Given the description of an element on the screen output the (x, y) to click on. 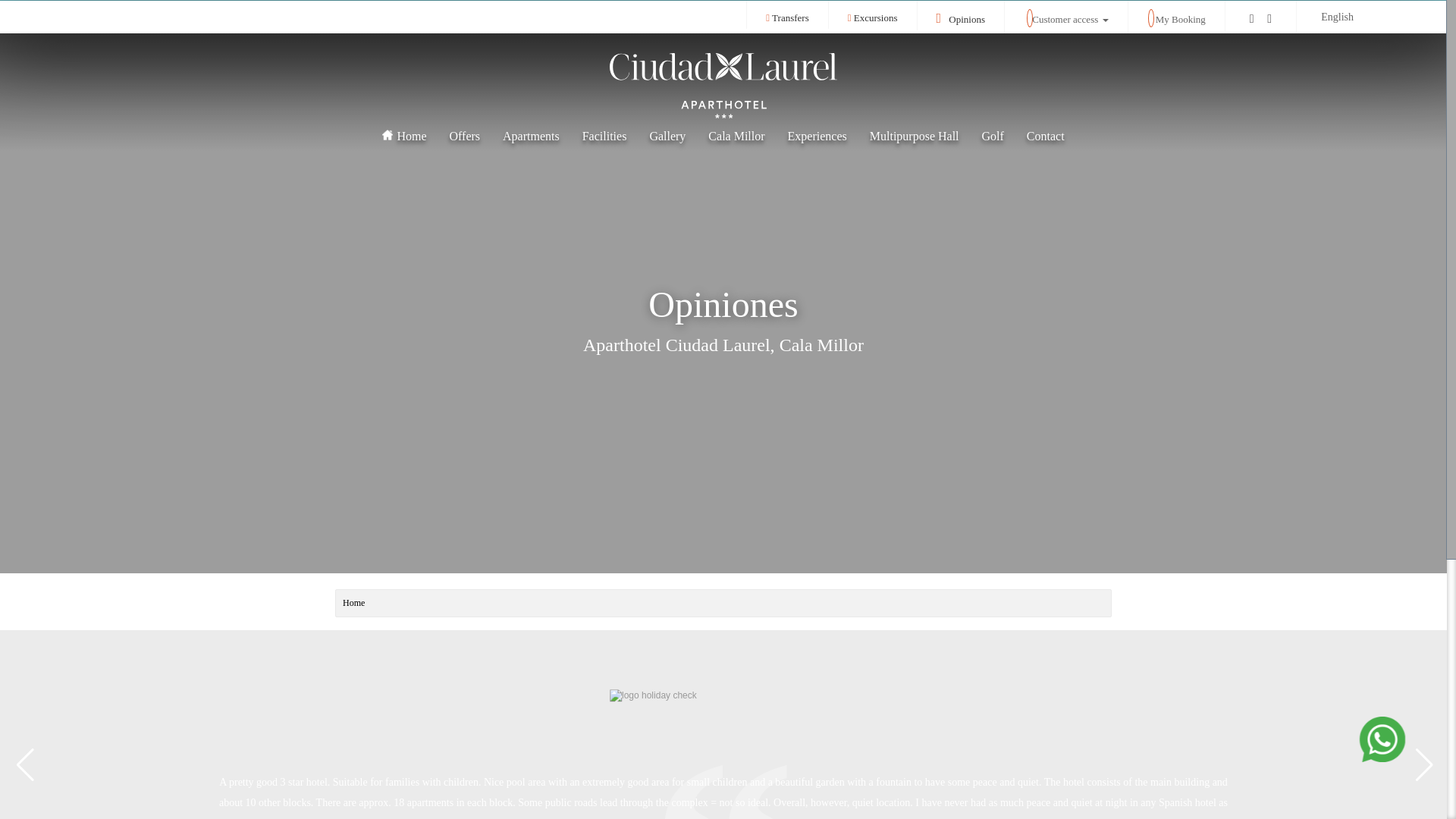
Cala Millor (736, 136)
Contact (1044, 136)
Multipurpose Hall (915, 136)
Facilities (604, 136)
Home (404, 137)
Golf (992, 136)
Opinions (960, 19)
Experiences (817, 136)
Offers (465, 136)
Gallery (667, 136)
Excursions (872, 17)
Apartments (531, 136)
Transfers (786, 17)
English (1345, 16)
